Given the description of an element on the screen output the (x, y) to click on. 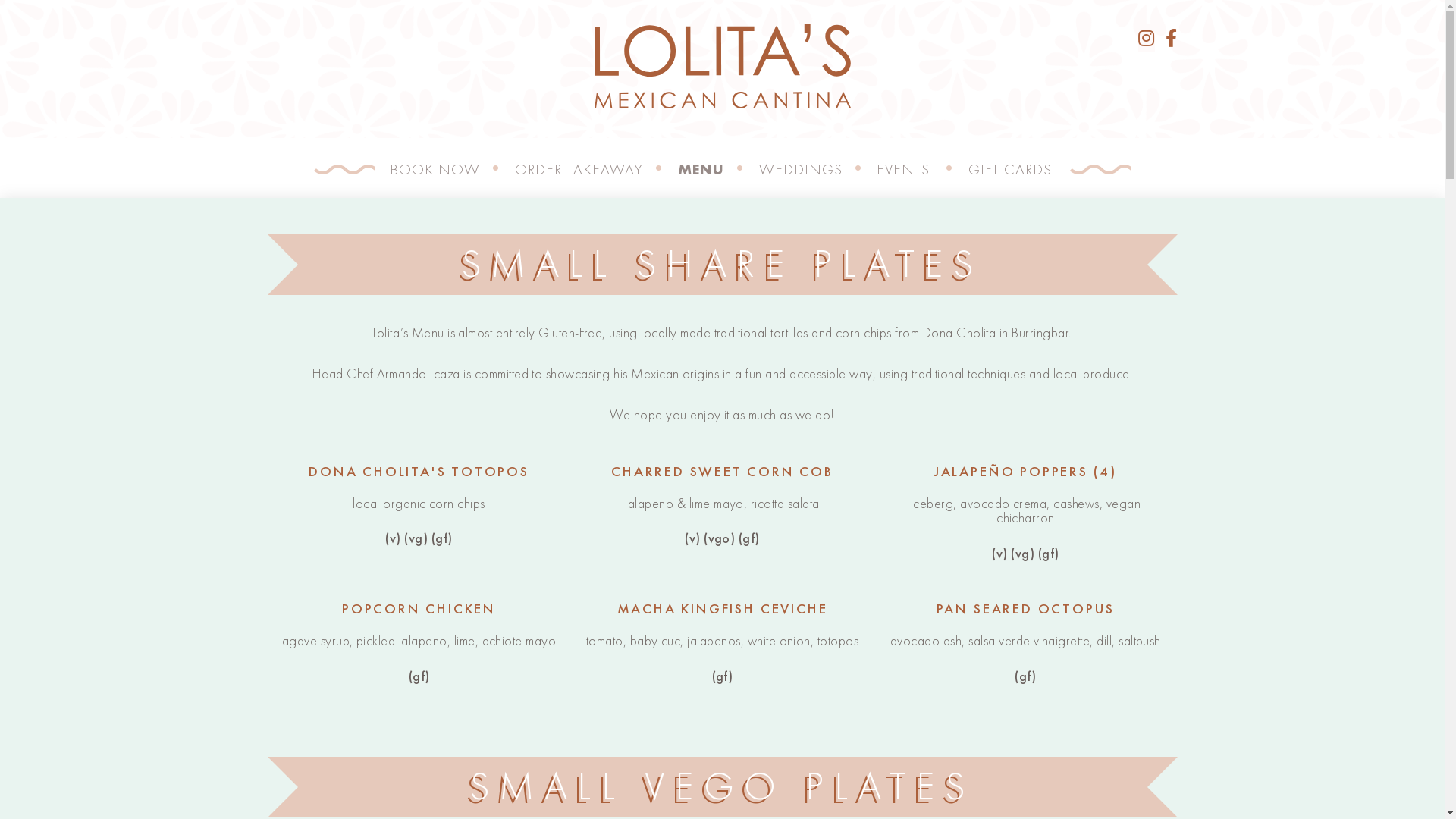
WEDDINGS Element type: text (799, 168)
EVENTS Element type: text (902, 168)
MENU Element type: text (700, 168)
Follow us on Facebook Element type: hover (1170, 37)
BOOK NOW Element type: text (434, 168)
GIFT CARDS Element type: text (1009, 168)
Follow us on Instagram Element type: hover (1146, 37)
ORDER TAKEAWAY Element type: text (578, 168)
